Given the description of an element on the screen output the (x, y) to click on. 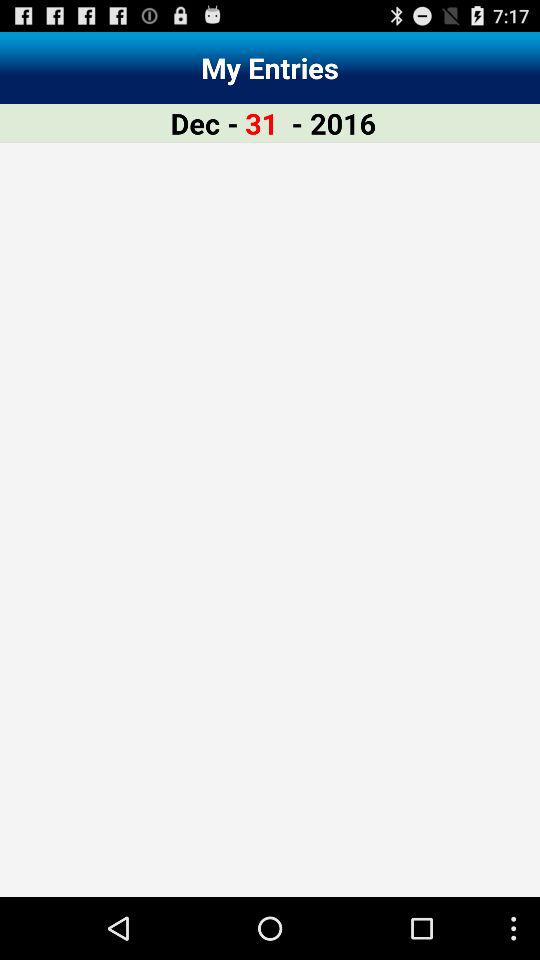
launch icon below the my entries icon (333, 122)
